Given the description of an element on the screen output the (x, y) to click on. 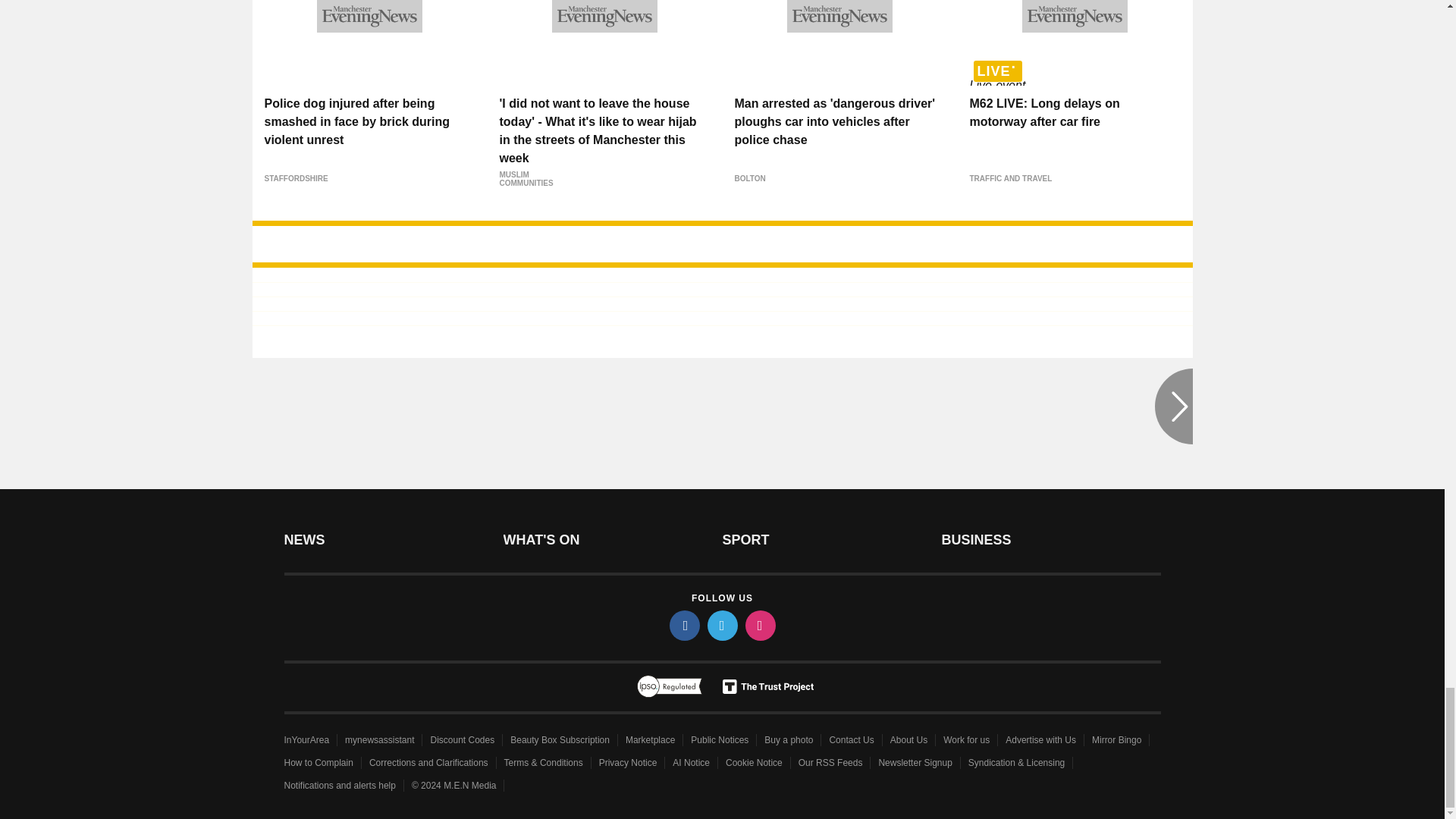
instagram (759, 625)
facebook (683, 625)
twitter (721, 625)
